Given the description of an element on the screen output the (x, y) to click on. 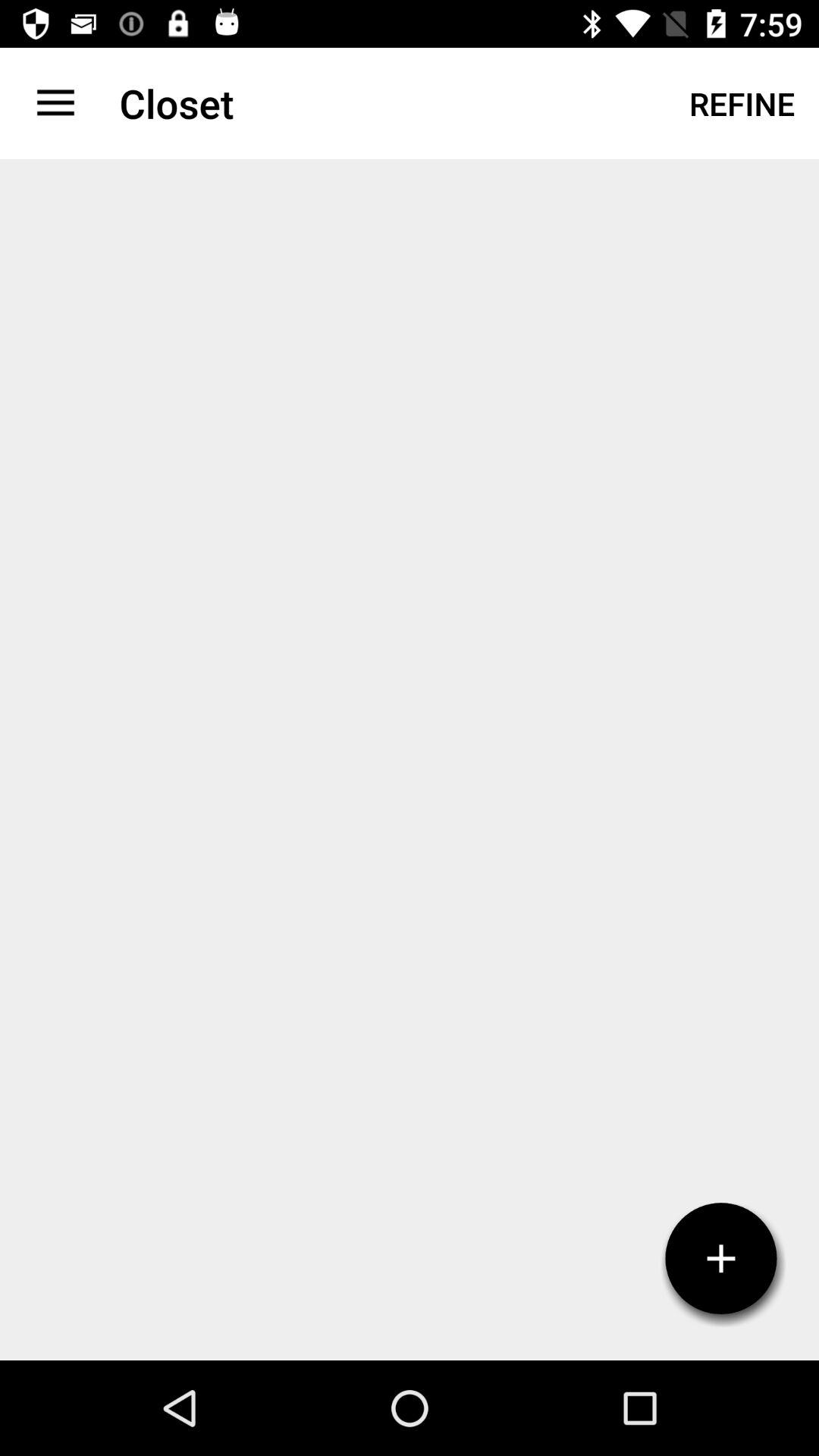
select the item below refine icon (721, 1258)
